Given the description of an element on the screen output the (x, y) to click on. 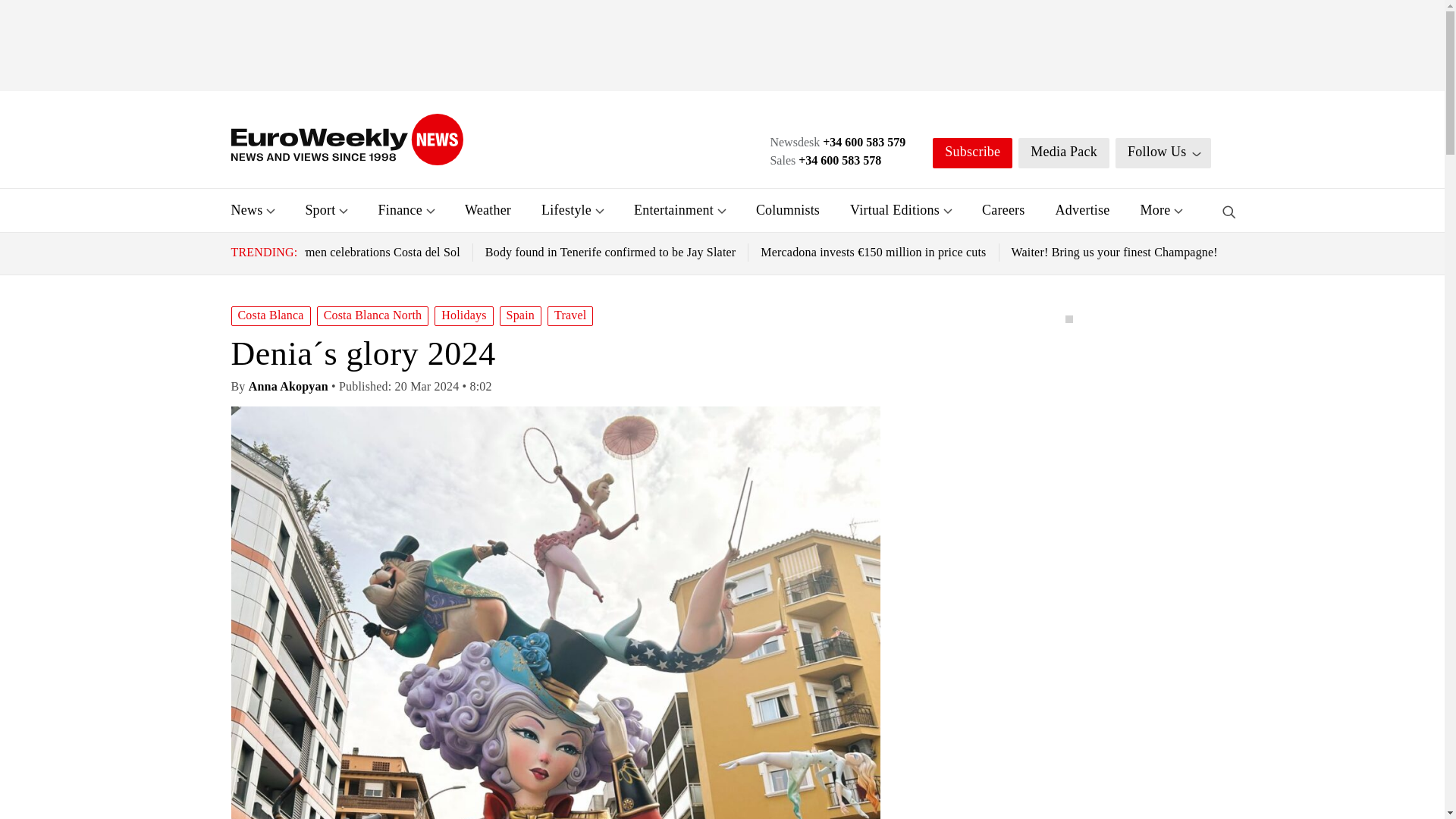
Follow Us (1163, 153)
Subscribe (972, 153)
News (246, 209)
Media Pack (1063, 153)
